Given the description of an element on the screen output the (x, y) to click on. 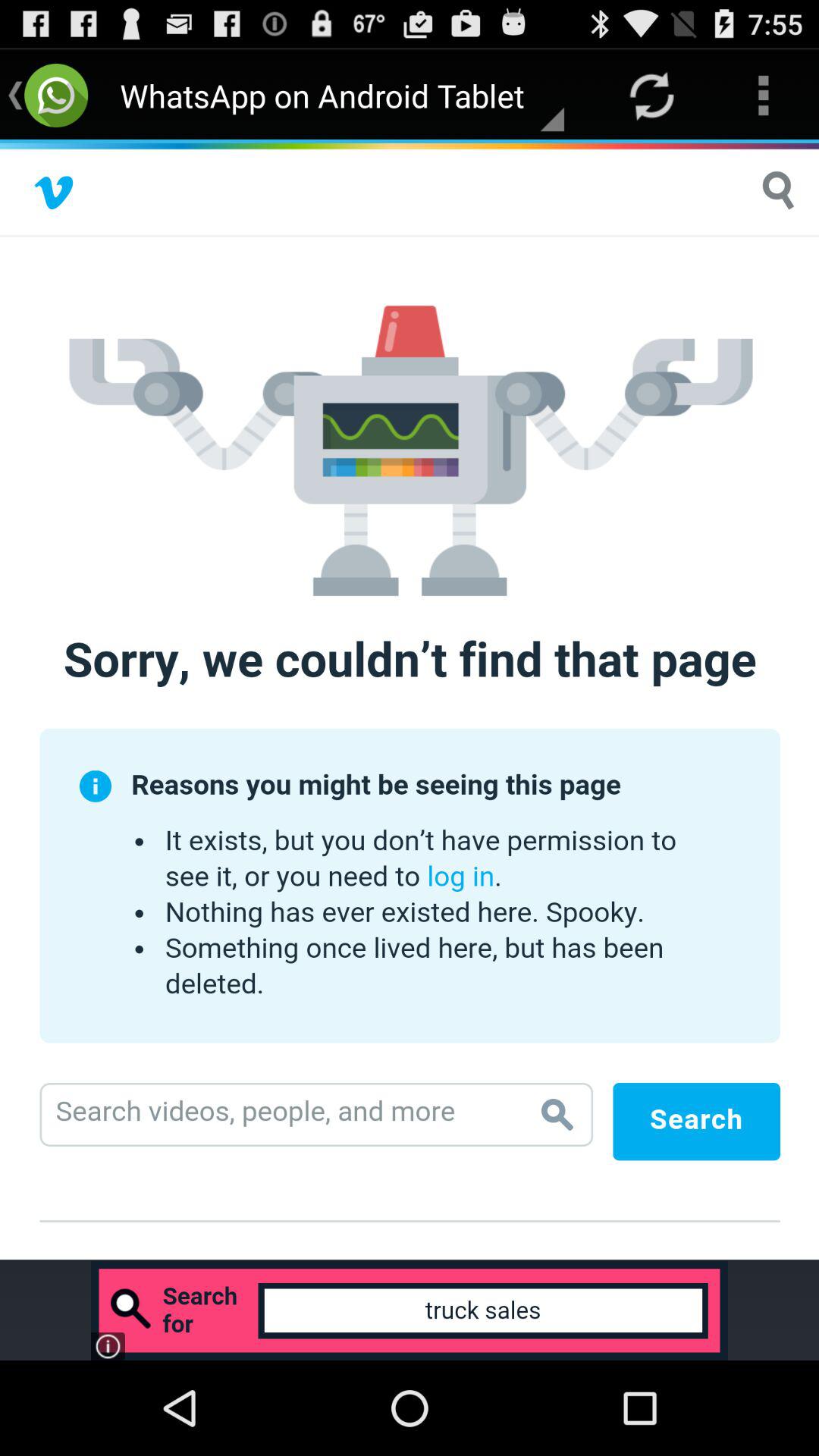
advertisement (409, 701)
